Given the description of an element on the screen output the (x, y) to click on. 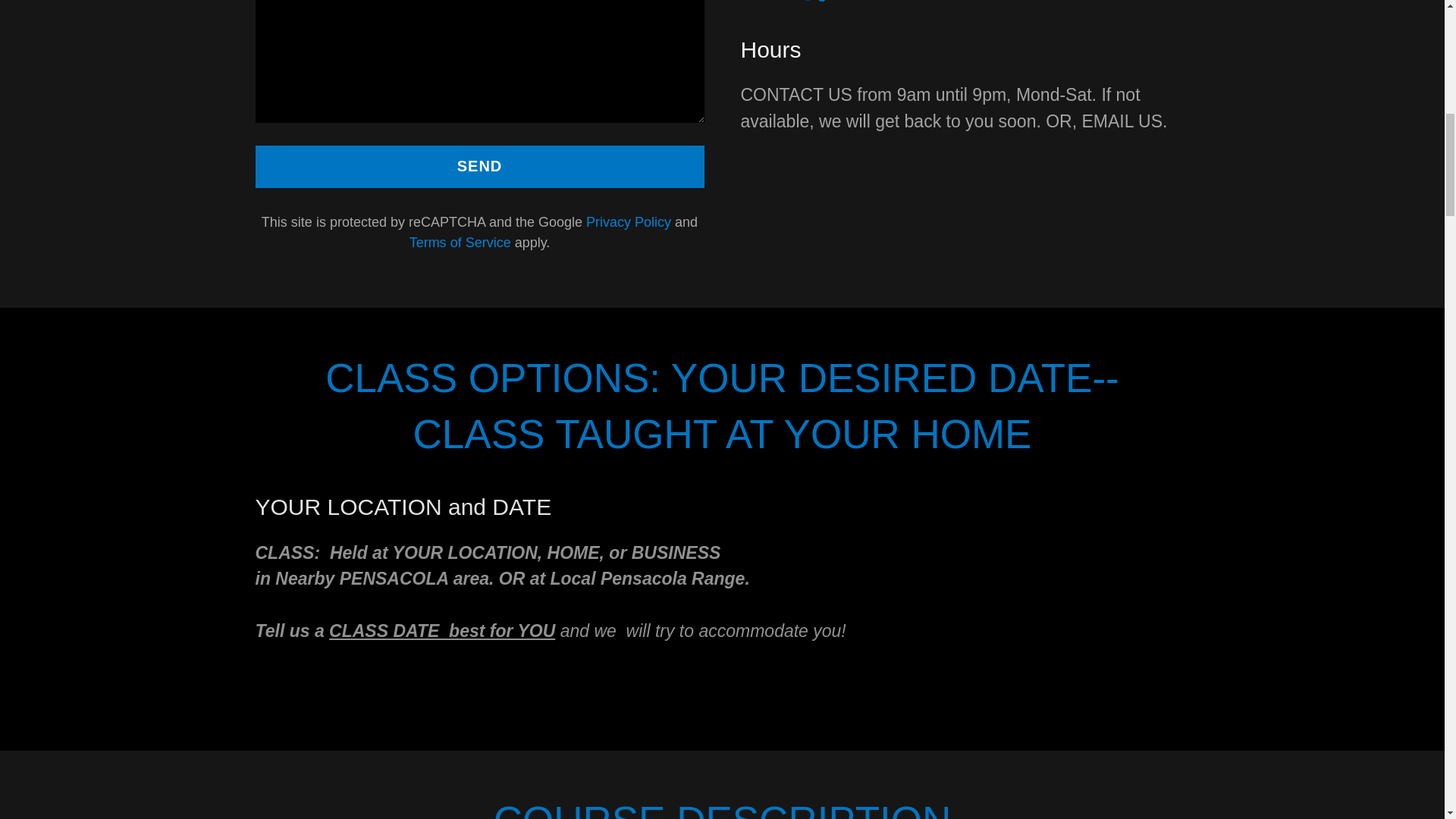
Privacy Policy (628, 222)
SEND (478, 166)
Terms of Service (460, 242)
